Given the description of an element on the screen output the (x, y) to click on. 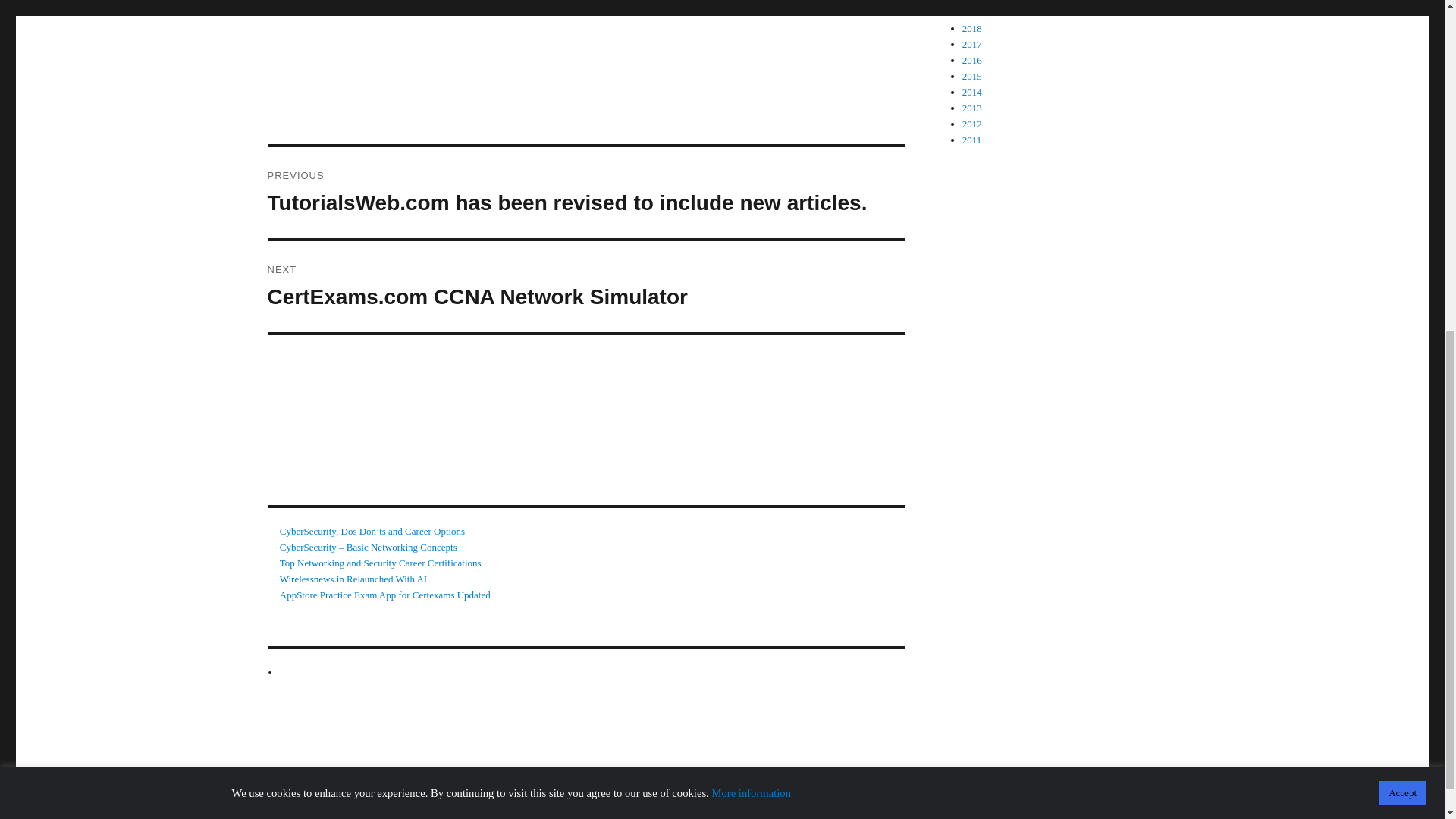
AppStore Practice Exam App for Certexams Updated (384, 594)
Top Networking and Security Career Certifications (585, 286)
Wirelessnews.in Relaunched With AI (380, 562)
